Given the description of an element on the screen output the (x, y) to click on. 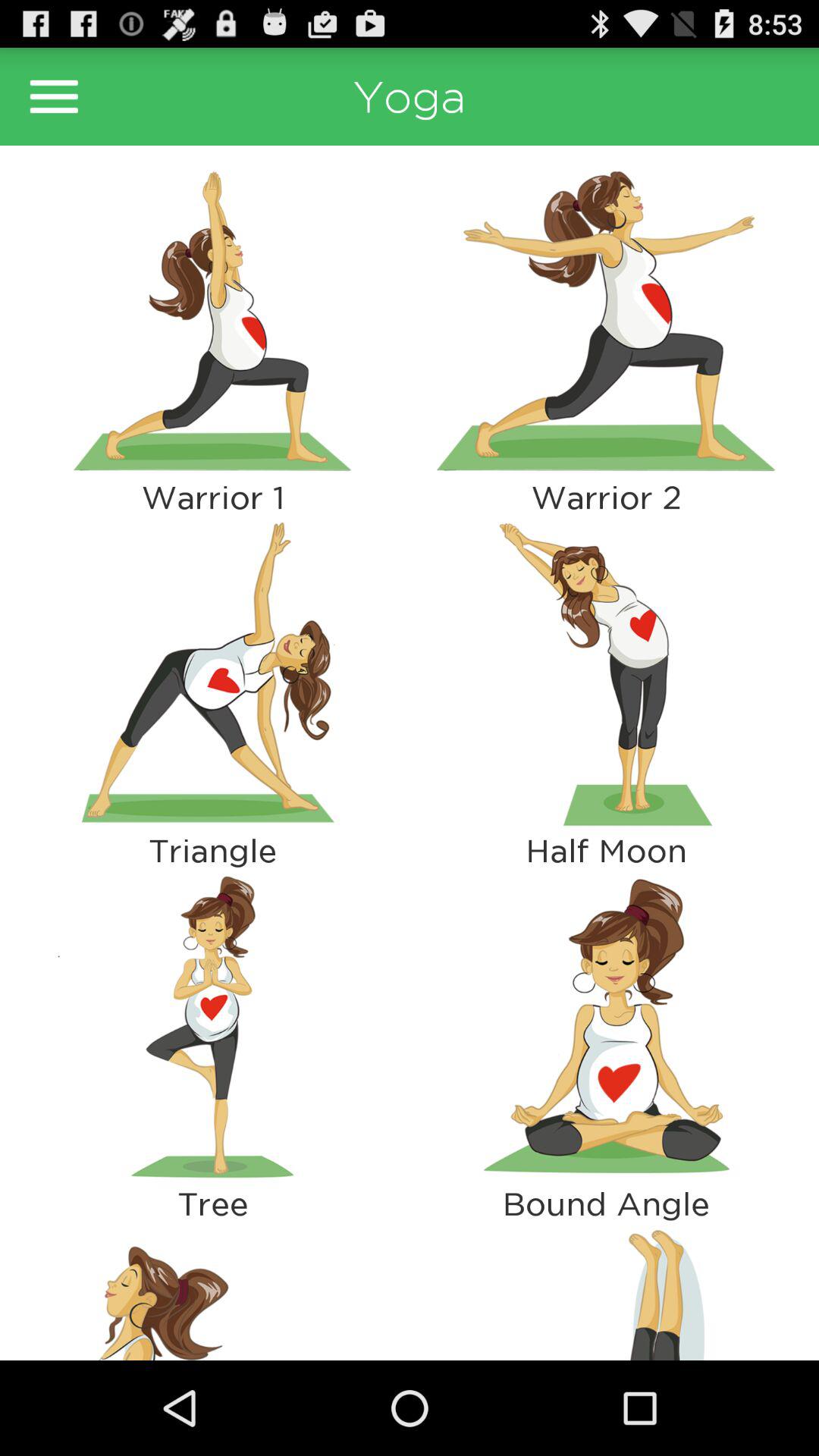
turn off the warrior 1 icon (212, 497)
